Given the description of an element on the screen output the (x, y) to click on. 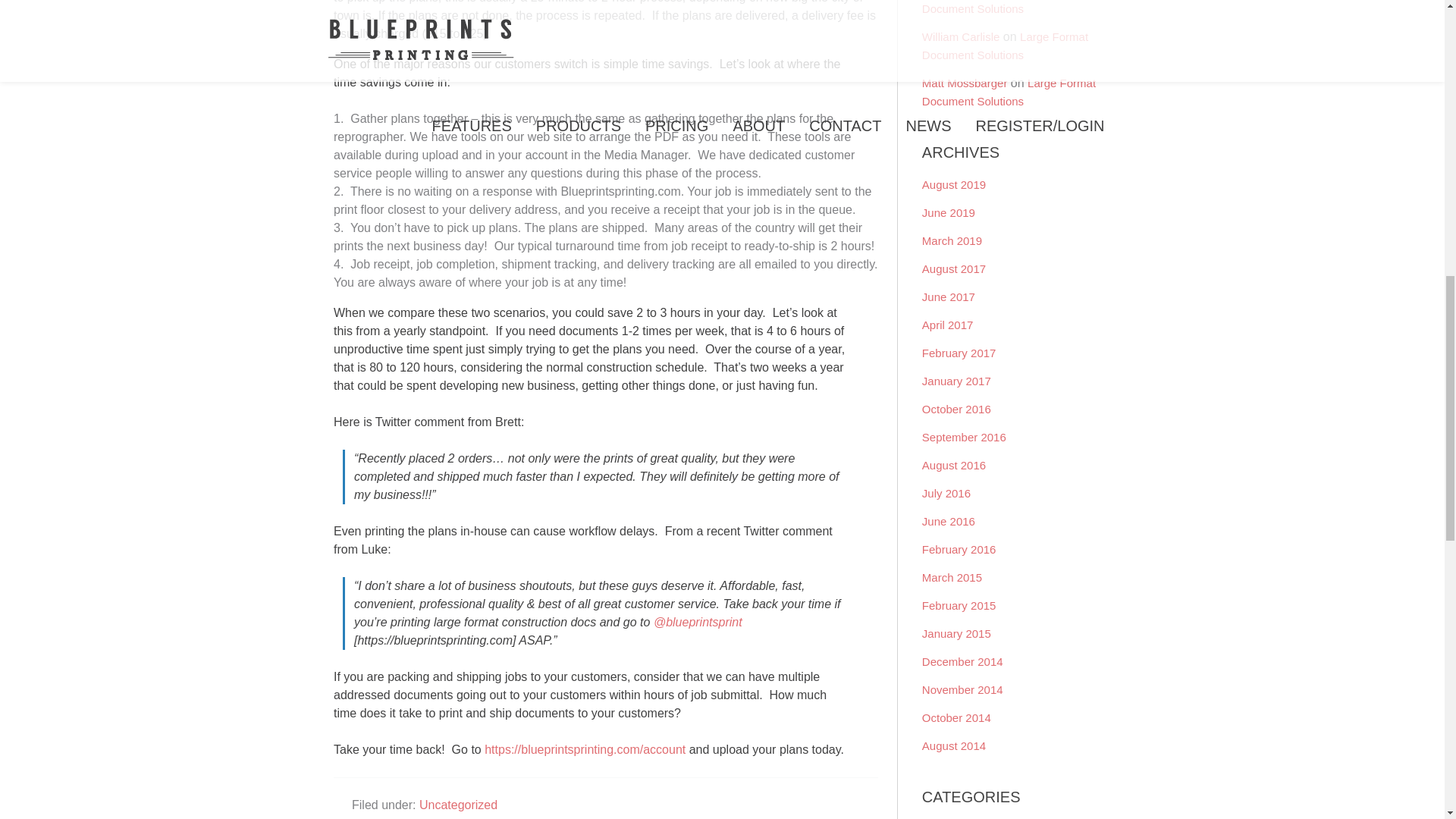
Large Format Document Solutions (1008, 7)
Your Account (584, 748)
Uncategorized (458, 804)
